Given the description of an element on the screen output the (x, y) to click on. 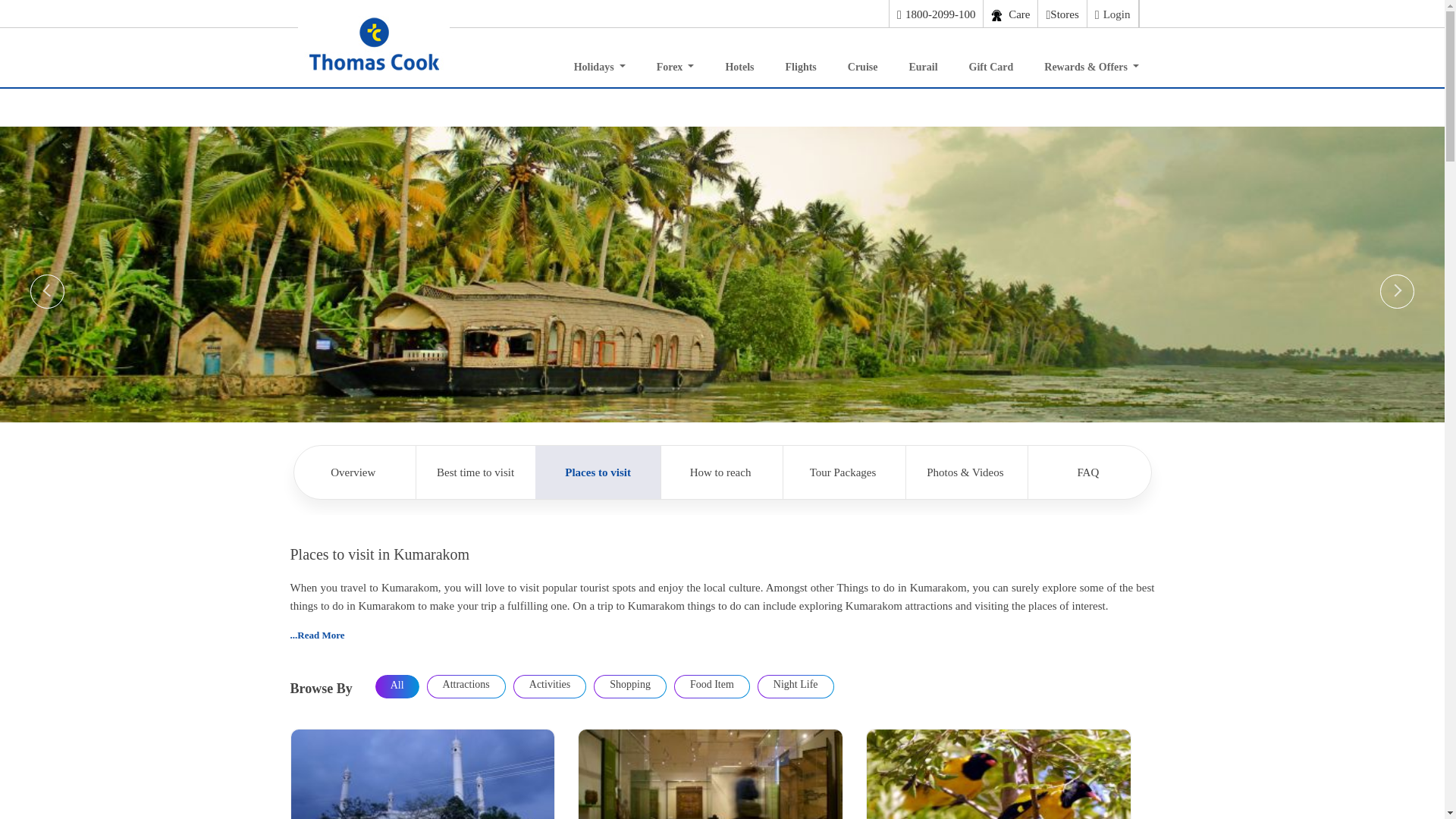
Holidays (599, 63)
Stores (1061, 13)
Login (1112, 13)
Care (1009, 13)
1800-2099-100 (935, 13)
